Given the description of an element on the screen output the (x, y) to click on. 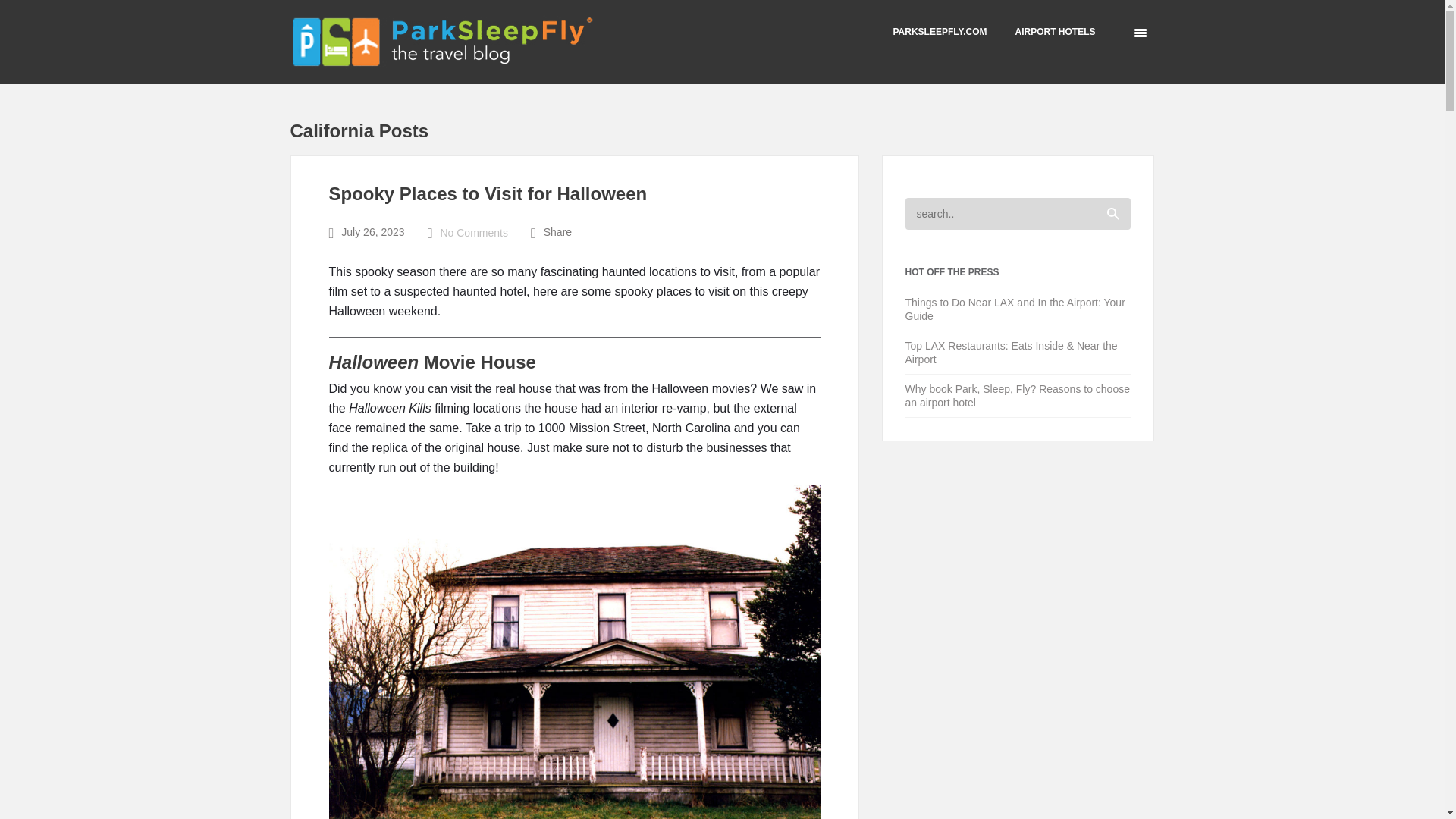
No Comments (472, 232)
Share (557, 232)
PARKSLEEPFLY.COM (939, 31)
July 26, 2023 (372, 232)
Spooky Places to Visit for Halloween (488, 193)
AIRPORT HOTELS (1054, 31)
